Given the description of an element on the screen output the (x, y) to click on. 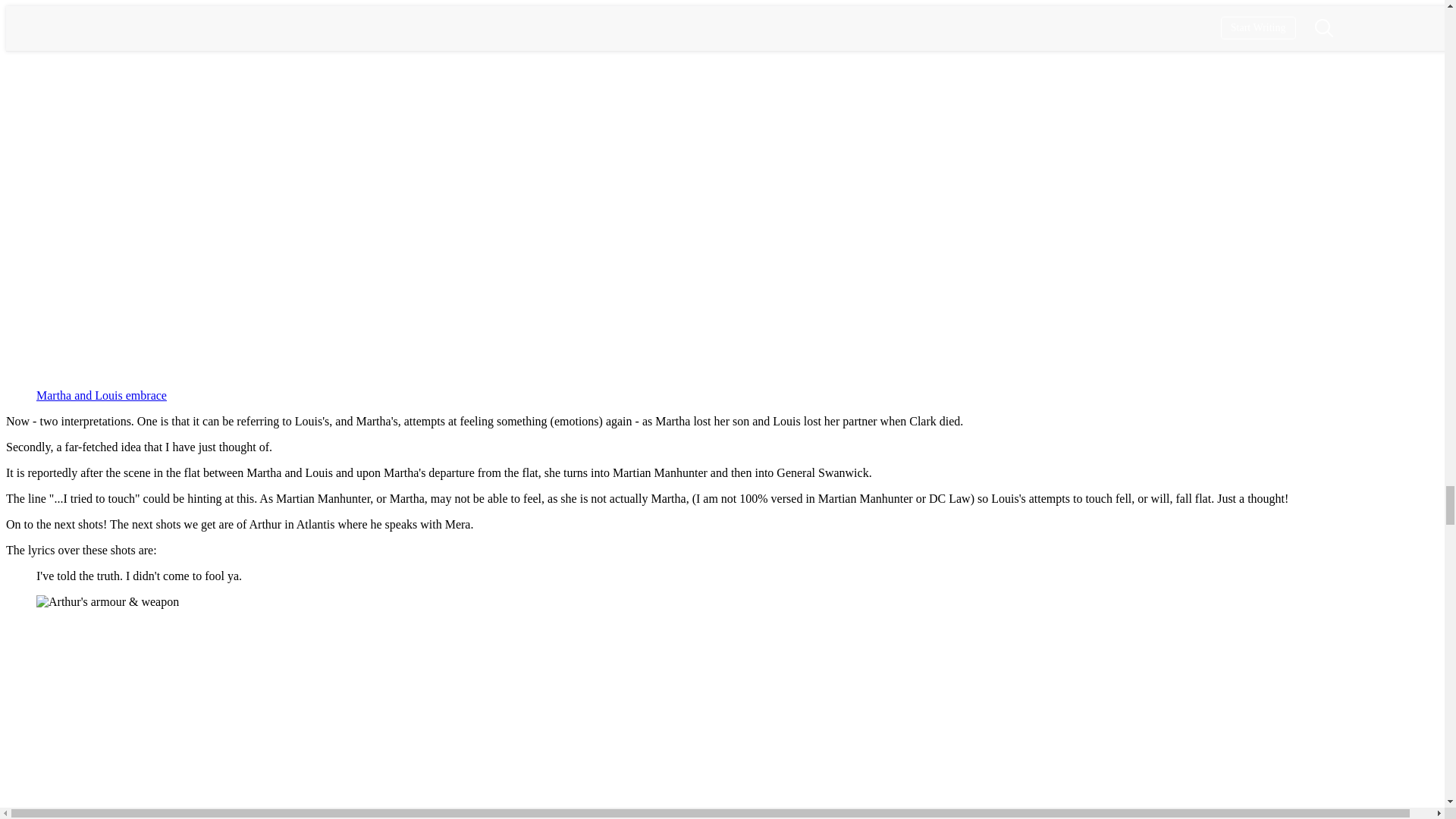
Martha and Louis embrace (101, 395)
